Given the description of an element on the screen output the (x, y) to click on. 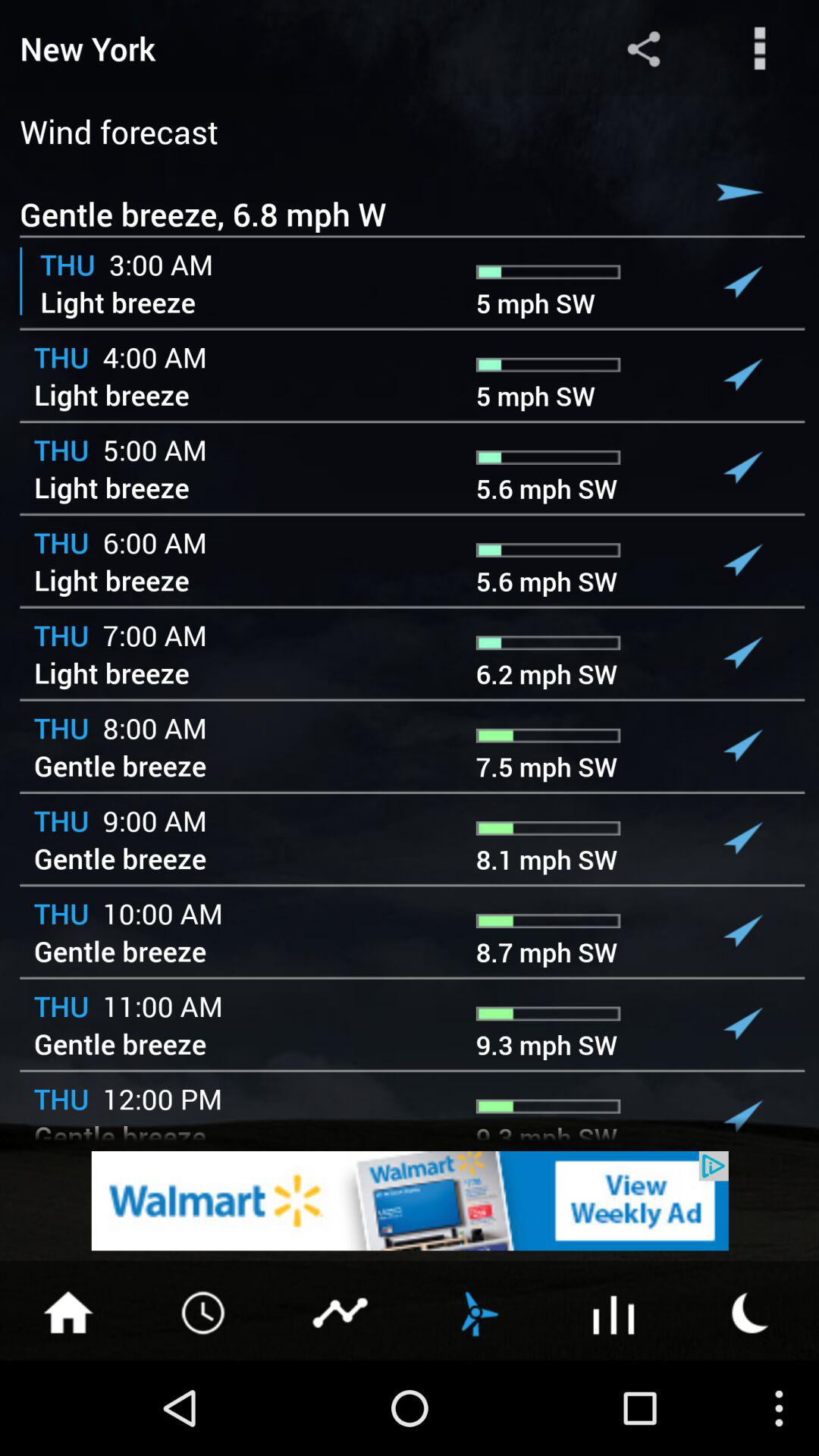
share the weather forecast (643, 48)
